Given the description of an element on the screen output the (x, y) to click on. 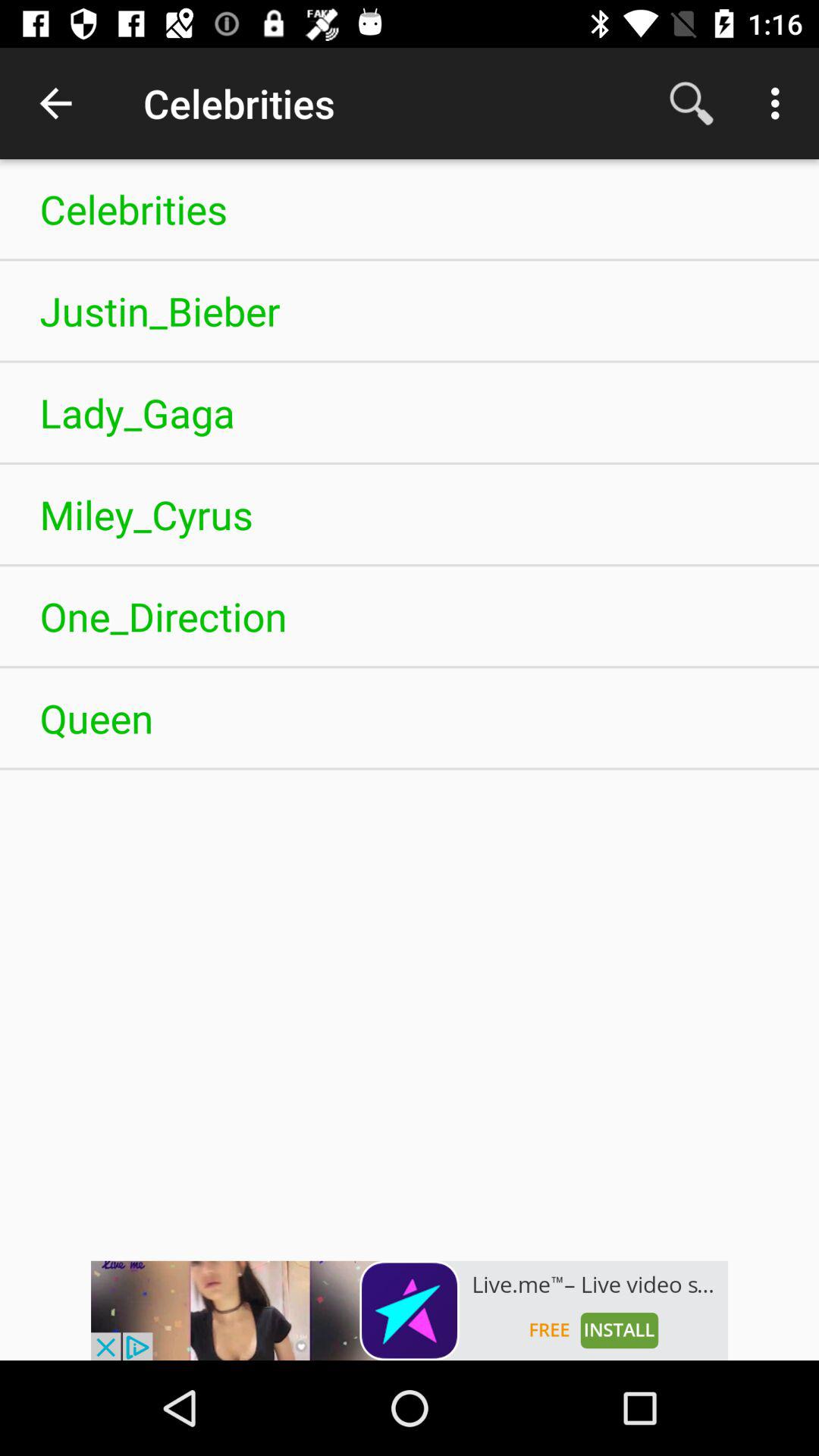
go to advertisement (409, 1310)
